Given the description of an element on the screen output the (x, y) to click on. 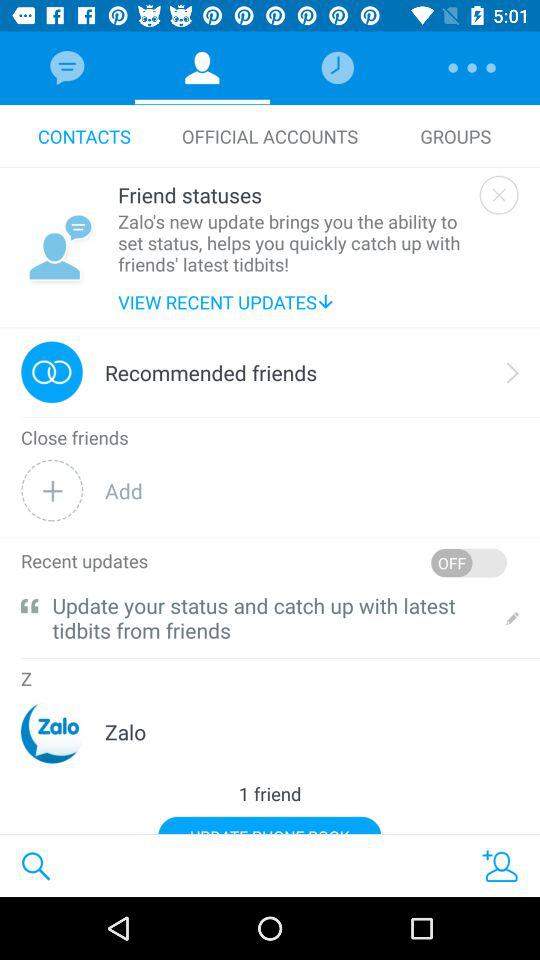
tap the close friends (74, 438)
